Given the description of an element on the screen output the (x, y) to click on. 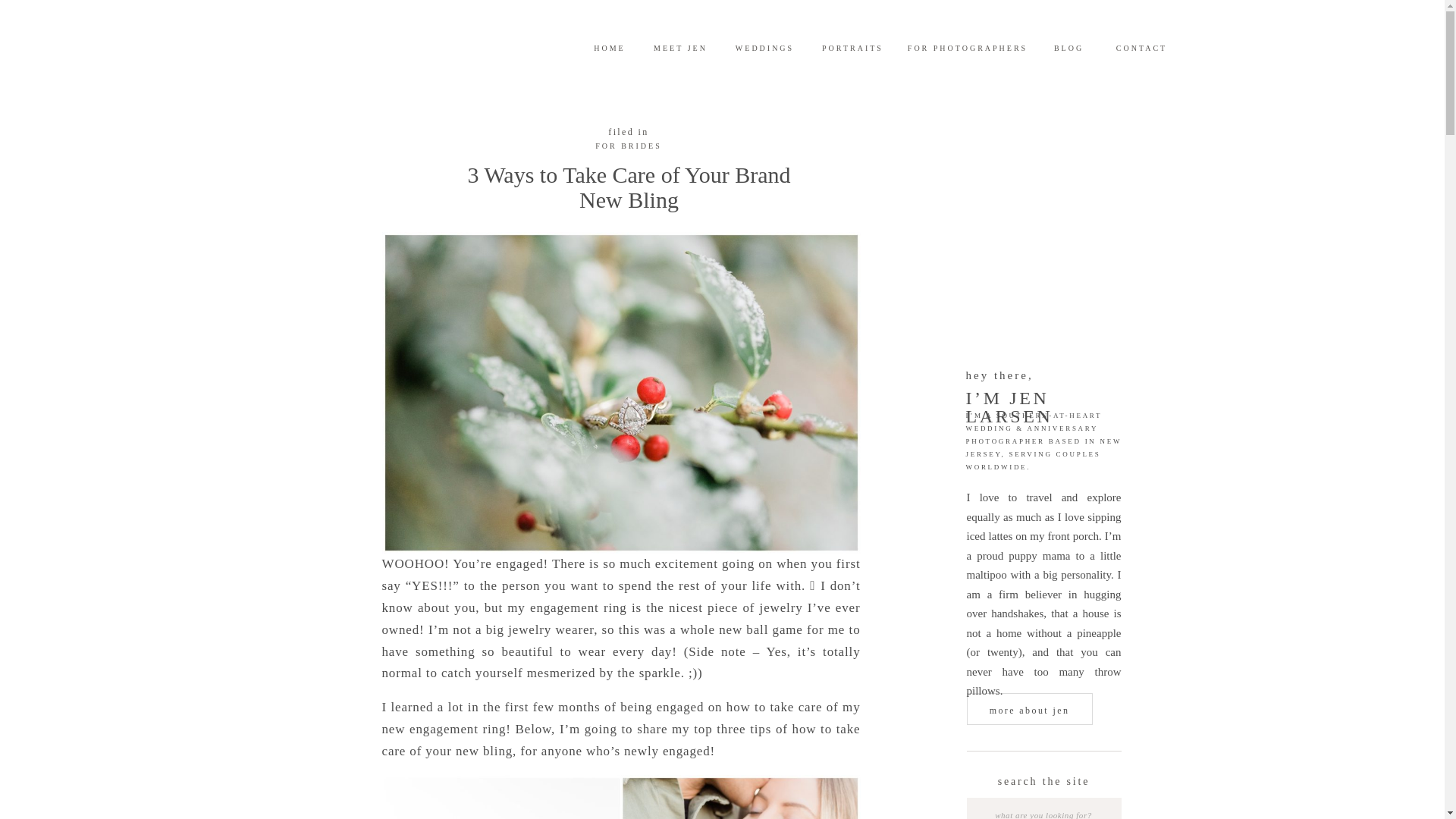
FOR PHOTOGRAPHERS (967, 47)
WEDDINGS (764, 47)
MEET JEN (681, 47)
HOME (609, 47)
PORTRAITS (851, 47)
CONTACT (1141, 47)
FOR BRIDES (628, 145)
BLOG (1068, 47)
more about jen (1029, 709)
